Given the description of an element on the screen output the (x, y) to click on. 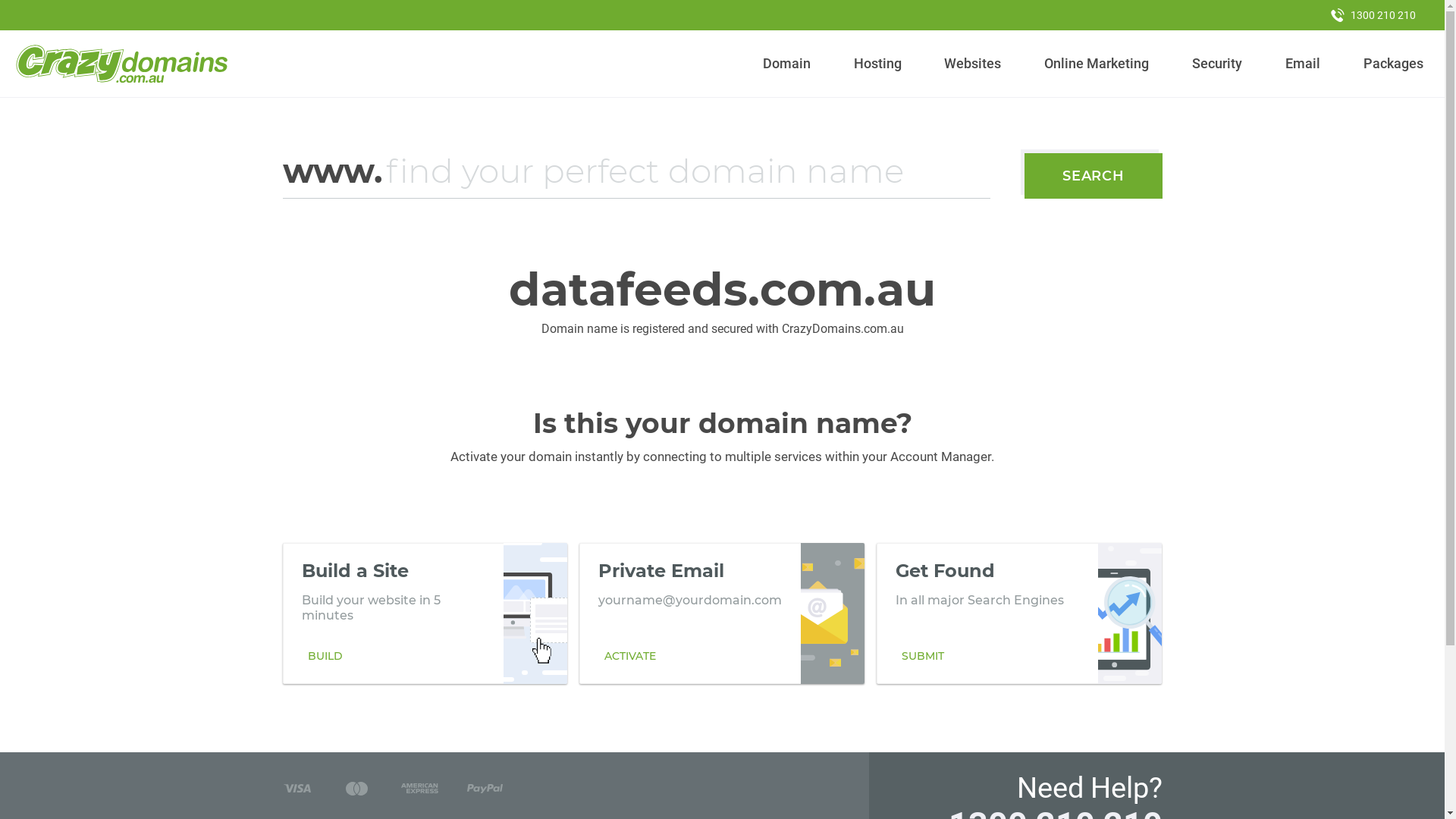
Build a Site
Build your website in 5 minutes
BUILD Element type: text (424, 613)
Domain Element type: text (786, 63)
Email Element type: text (1302, 63)
Get Found
In all major Search Engines
SUBMIT Element type: text (1018, 613)
Private Email
yourname@yourdomain.com
ACTIVATE Element type: text (721, 613)
Online Marketing Element type: text (1096, 63)
Packages Element type: text (1392, 63)
Hosting Element type: text (877, 63)
Security Element type: text (1217, 63)
SEARCH Element type: text (1092, 175)
Websites Element type: text (972, 63)
1300 210 210 Element type: text (1373, 15)
